Given the description of an element on the screen output the (x, y) to click on. 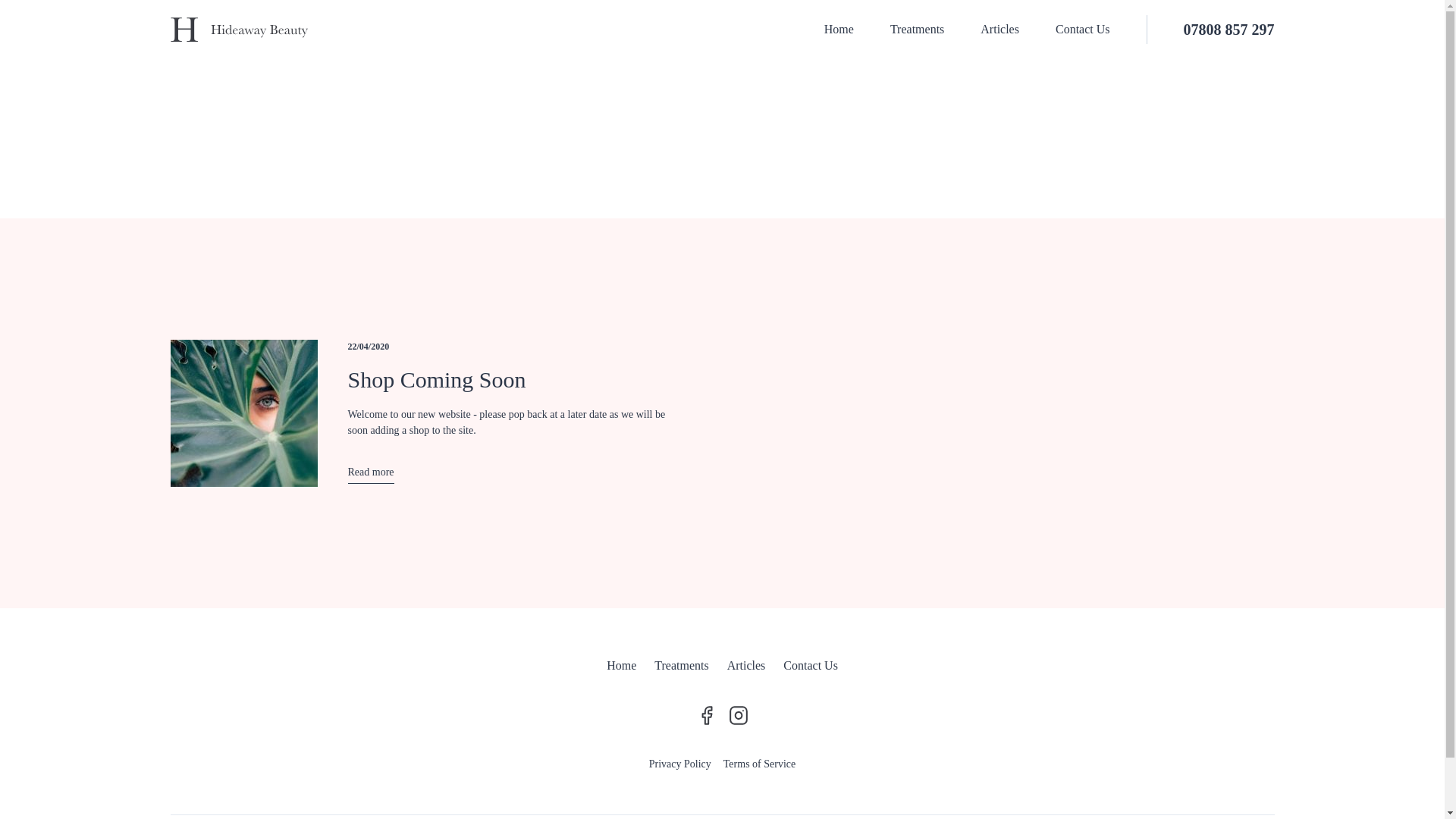
Treatments (917, 29)
Articles (745, 667)
The Hideaway Beauty Instagram (738, 715)
Read article: Shop Coming Soon (370, 474)
Articles (999, 29)
The Hideaway Beauty (238, 29)
Terms of Service (758, 765)
Read our terms of service (758, 765)
Contact Us (810, 667)
Privacy Policy (680, 765)
Shop Coming Soon (436, 379)
Contact Us (1082, 29)
07808 857 297 (1211, 29)
Home (839, 29)
The Hideaway Beauty Facebook (706, 715)
